Given the description of an element on the screen output the (x, y) to click on. 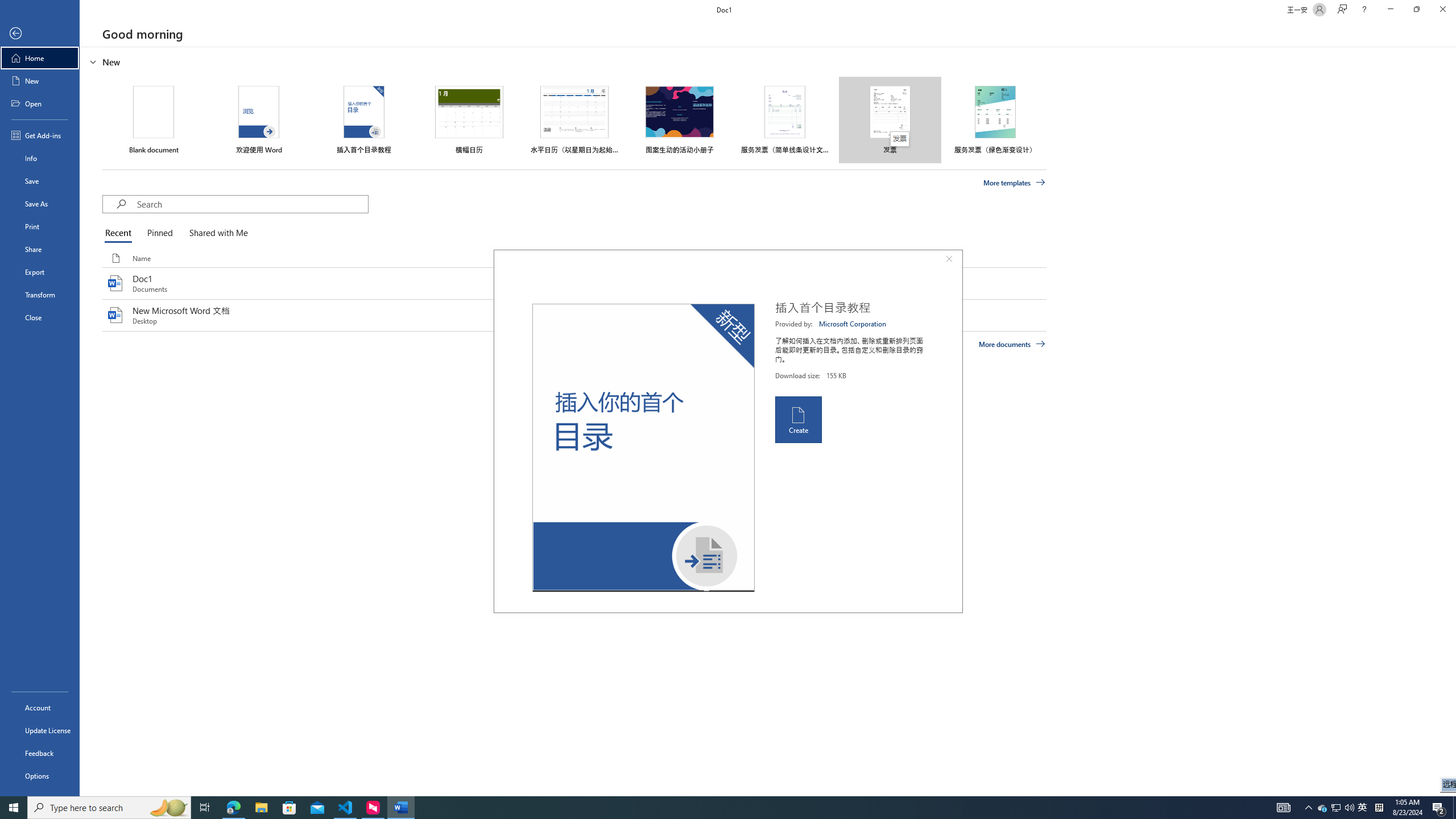
Save As (40, 203)
Hide or show region (92, 61)
Preview (643, 447)
More documents (1011, 343)
Pinned (159, 233)
Doc1 (573, 283)
Shared with Me (215, 233)
Back (40, 33)
